Given the description of an element on the screen output the (x, y) to click on. 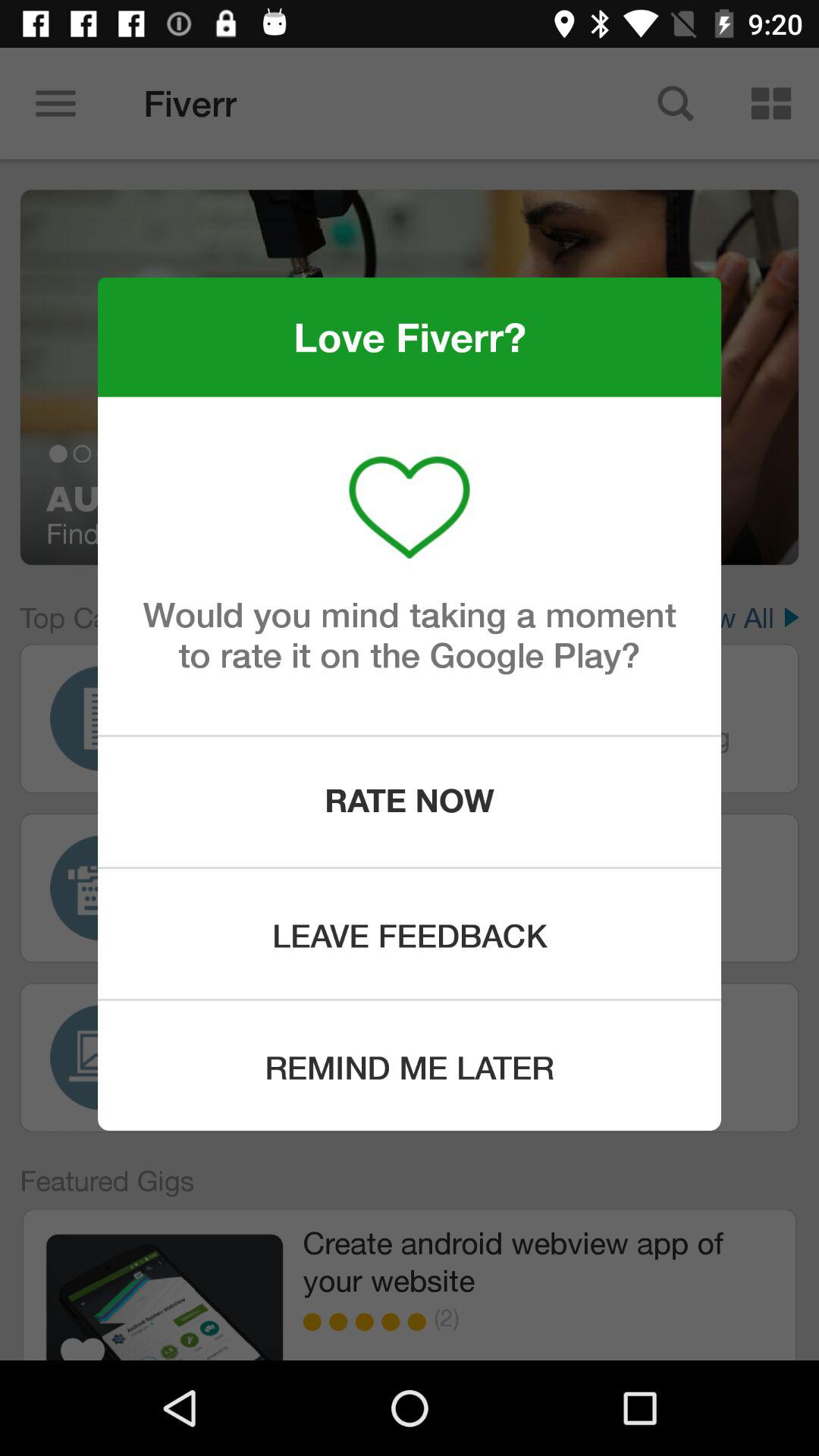
turn off rate now (409, 801)
